Given the description of an element on the screen output the (x, y) to click on. 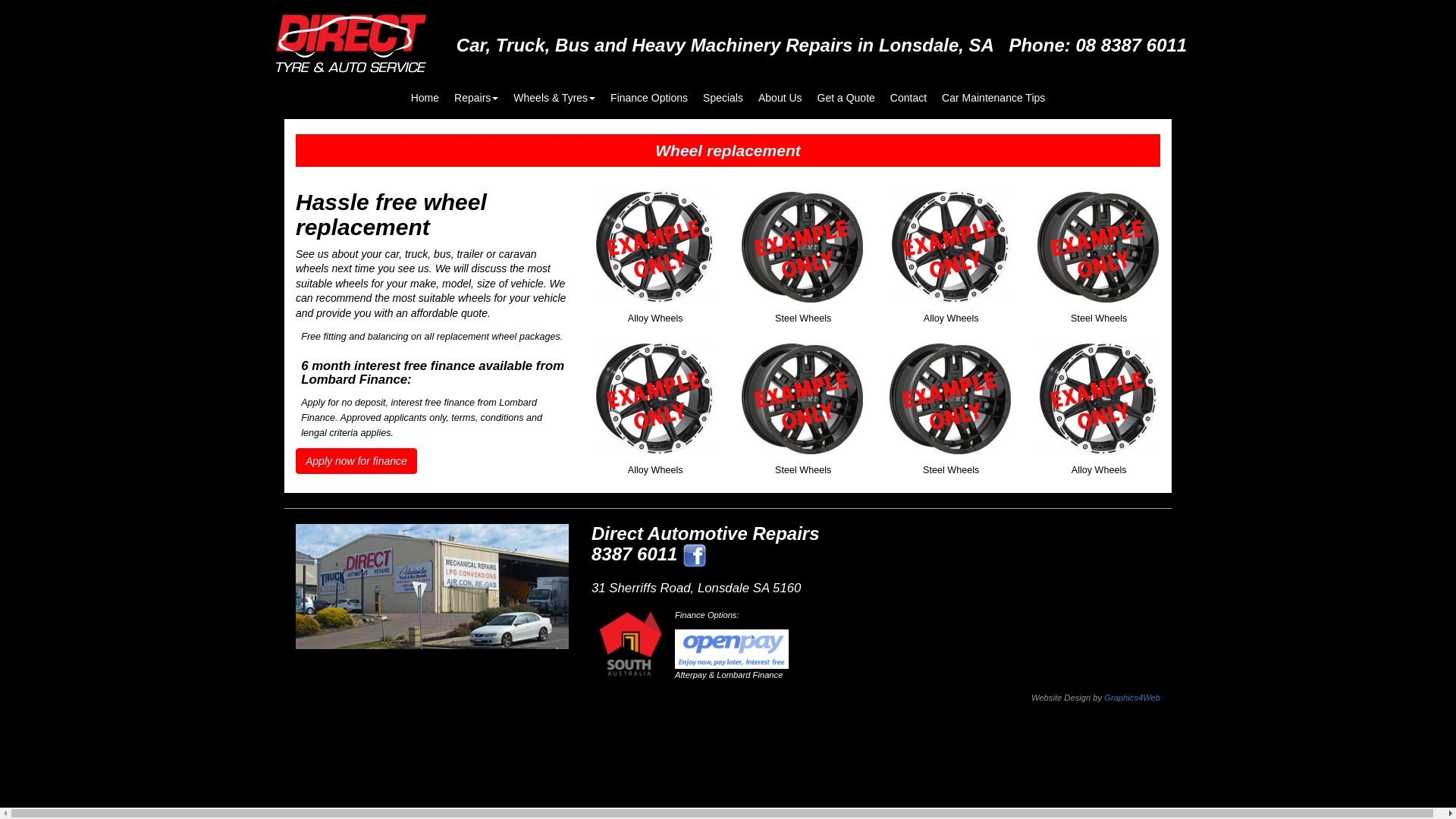
Car Maintenance Tips Element type: text (993, 89)
Wheels & Tyres Element type: text (553, 89)
We are located in Lonsdale, SA Element type: hover (431, 586)
Graphics4Web Element type: text (1132, 697)
Home Element type: text (424, 89)
wheel 1 Element type: hover (1097, 402)
Apply now for finance Element type: text (356, 460)
wheel2 Element type: hover (801, 402)
Repairs Element type: text (475, 89)
wheel2 Element type: hover (949, 402)
wheel 1 Element type: hover (949, 250)
About Us Element type: text (779, 89)
Contact Element type: text (908, 89)
wheel2 Element type: hover (801, 250)
wheel 1 Element type: hover (653, 402)
Specials Element type: text (722, 89)
wheel2 Element type: hover (1097, 250)
Finance Options Element type: text (648, 89)
wheel 1 Element type: hover (653, 250)
Get a Quote Element type: text (845, 89)
